Given the description of an element on the screen output the (x, y) to click on. 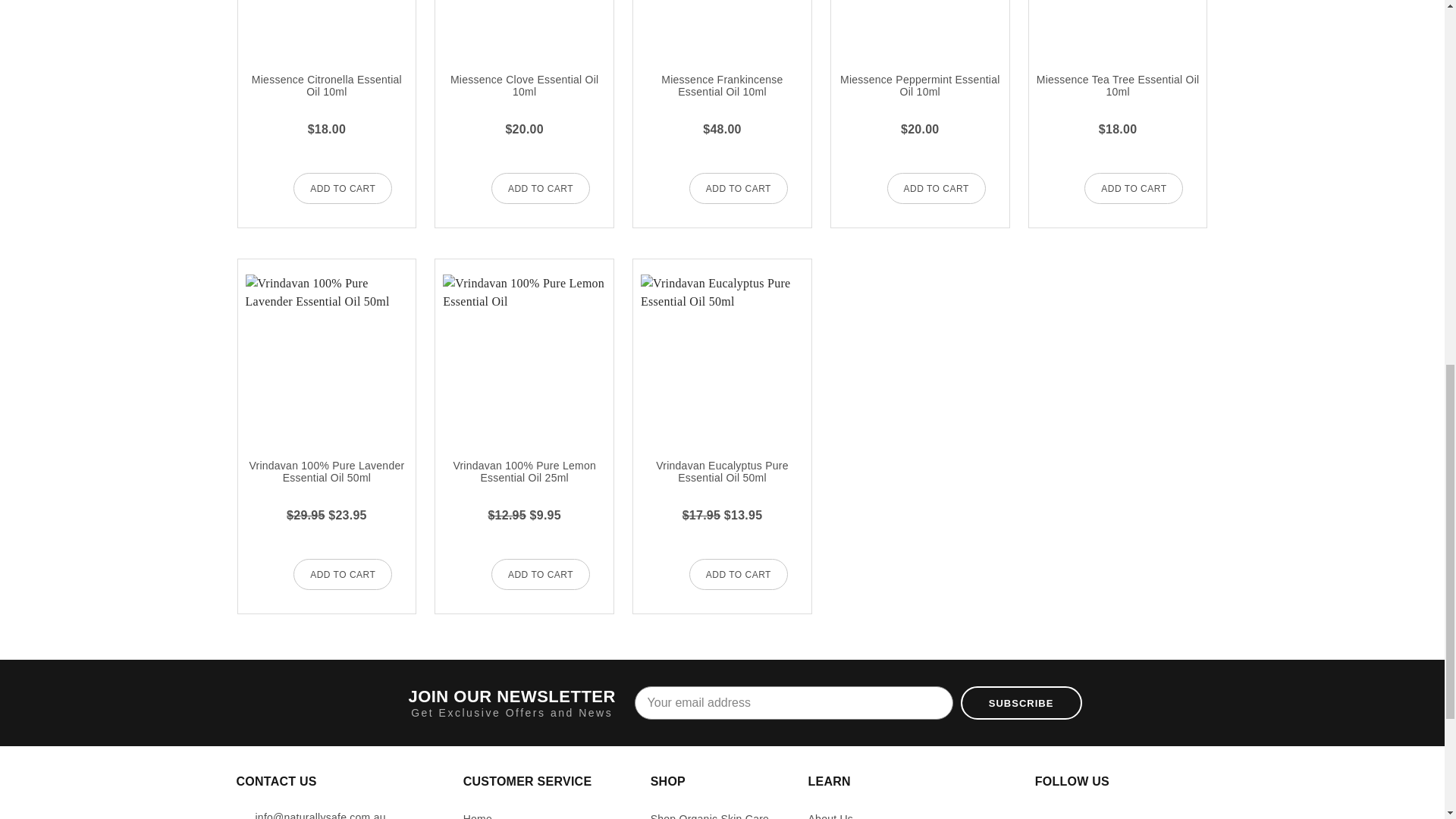
Subscribe (1020, 702)
Miessence Frankincense Essential Oil 10ml (721, 25)
Miessence Tea Tree Essential Oil 10ml (1117, 25)
Vrindavan Eucalyptus Pure Essential Oil 50ml (721, 355)
Miessence Citronella Essential Oil 10ml (327, 25)
Miessence Peppermint Essential Oil 10ml (919, 25)
Miessence Clove Essential Oil 10ml (523, 25)
